Given the description of an element on the screen output the (x, y) to click on. 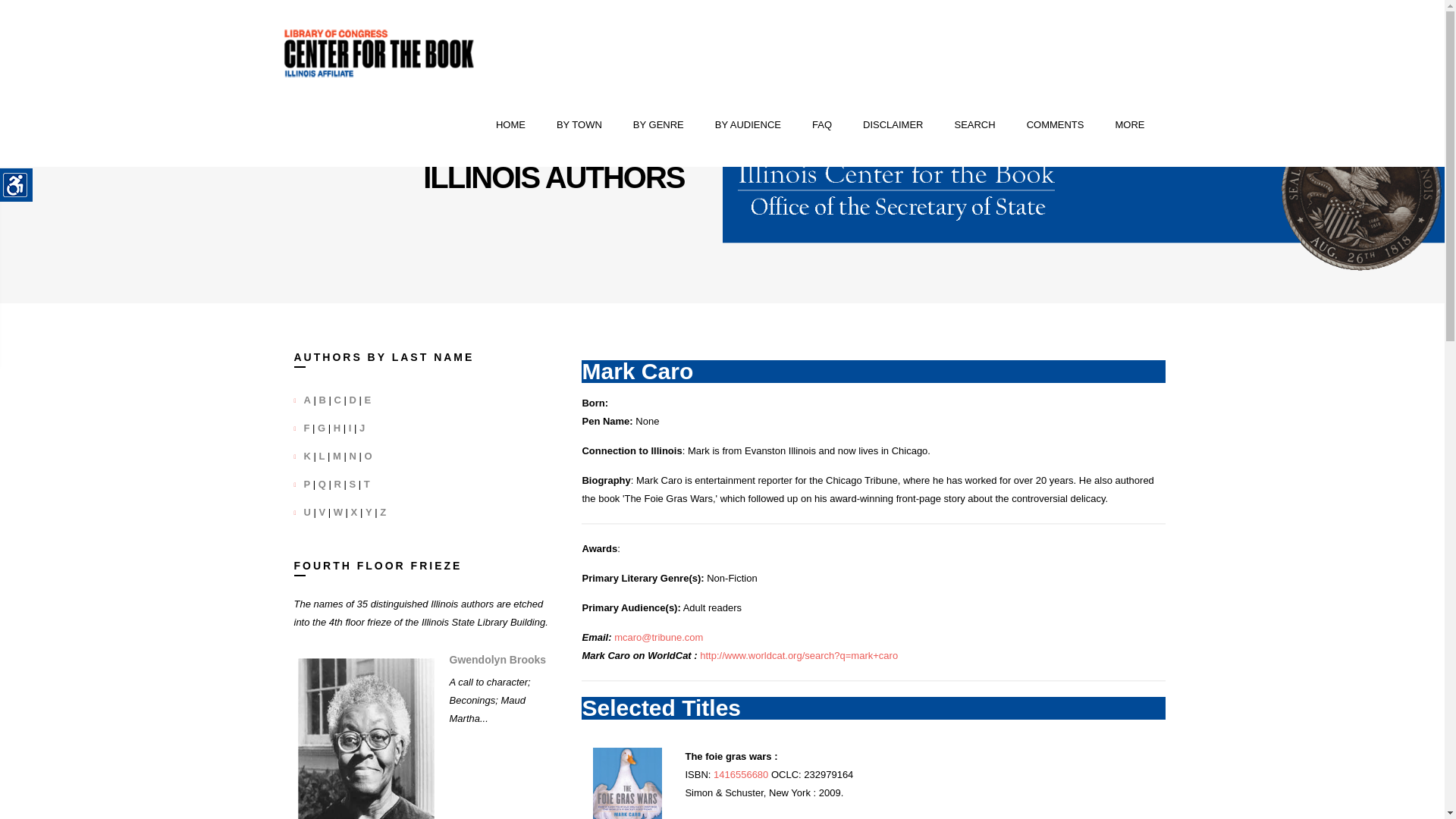
DISCLAIMER (893, 125)
BY AUDIENCE (747, 125)
A disclaimer from the Illinois Secretary of State (893, 125)
COMMENTS (1055, 125)
Illinois authors, arranged by audience (747, 125)
Link to the Library of Congress's Center for the Book (379, 52)
